Given the description of an element on the screen output the (x, y) to click on. 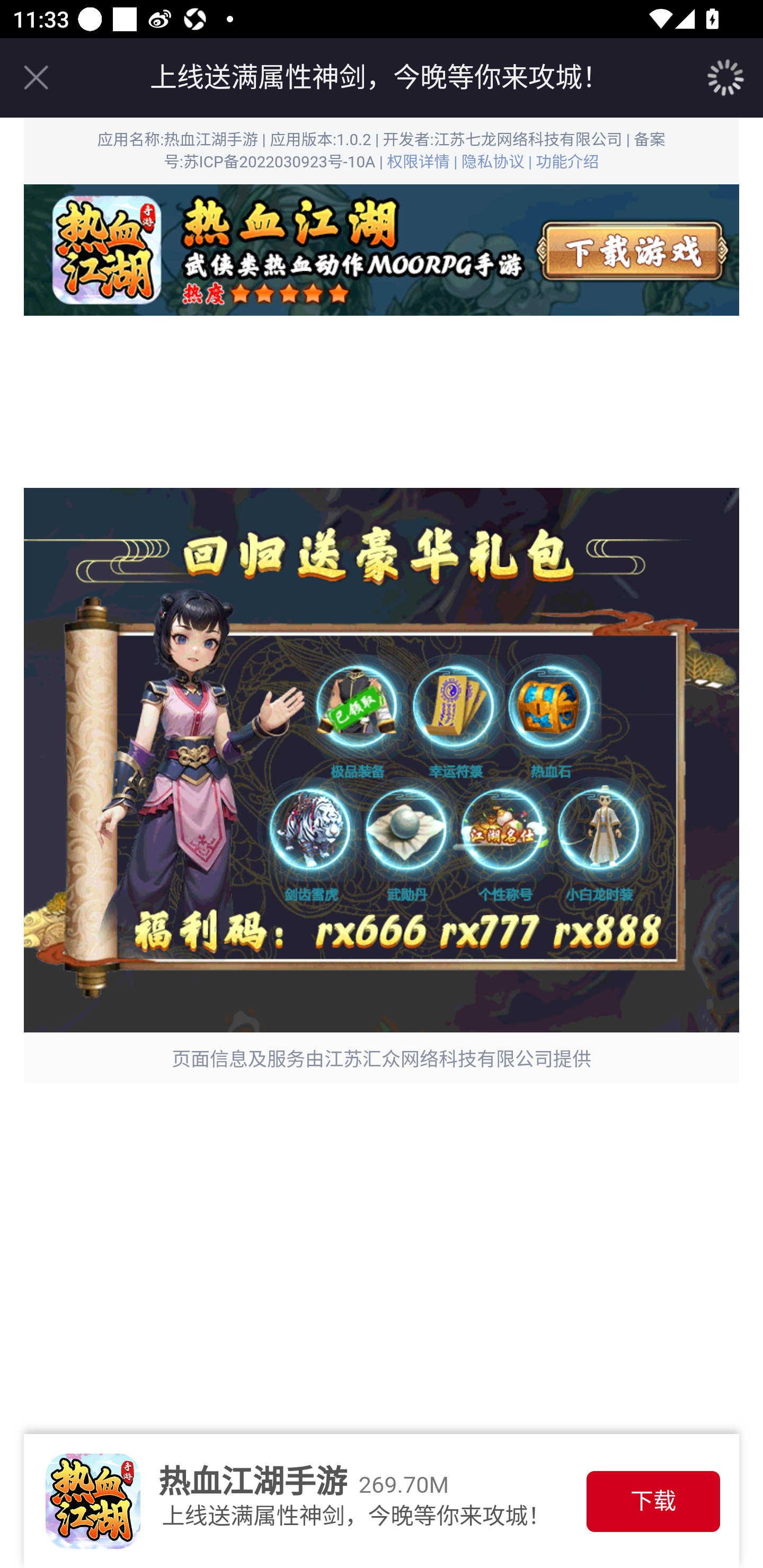
上线送满属性神剑，今晚等你来攻城！ (379, 77)
0?tp=webp (381, 249)
下载 (653, 1500)
